Given the description of an element on the screen output the (x, y) to click on. 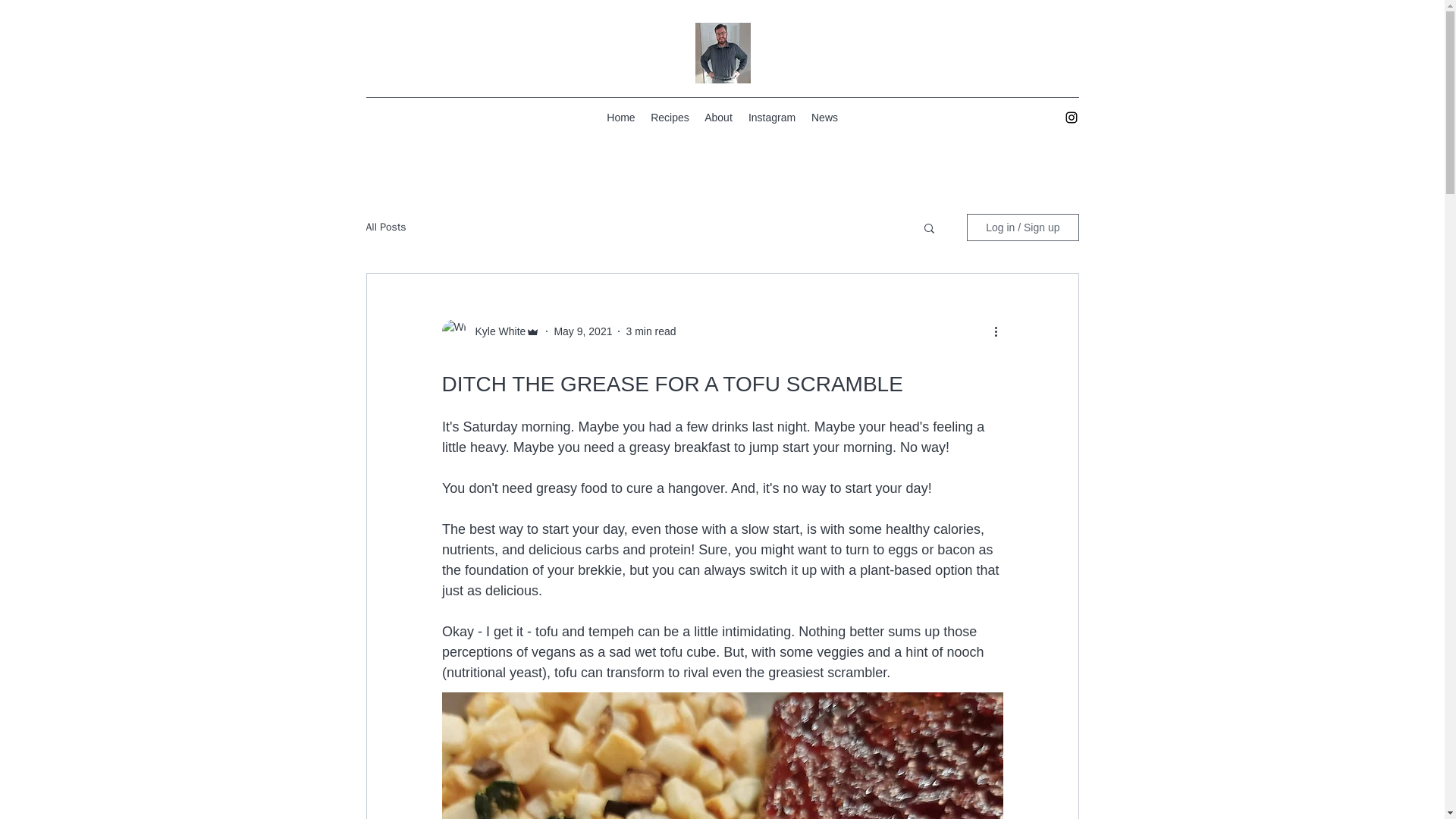
News (824, 117)
3 min read (650, 330)
All Posts (385, 227)
Home (620, 117)
Kyle White (495, 330)
May 9, 2021 (582, 330)
Recipes (670, 117)
Instagram (771, 117)
About (718, 117)
